Given the description of an element on the screen output the (x, y) to click on. 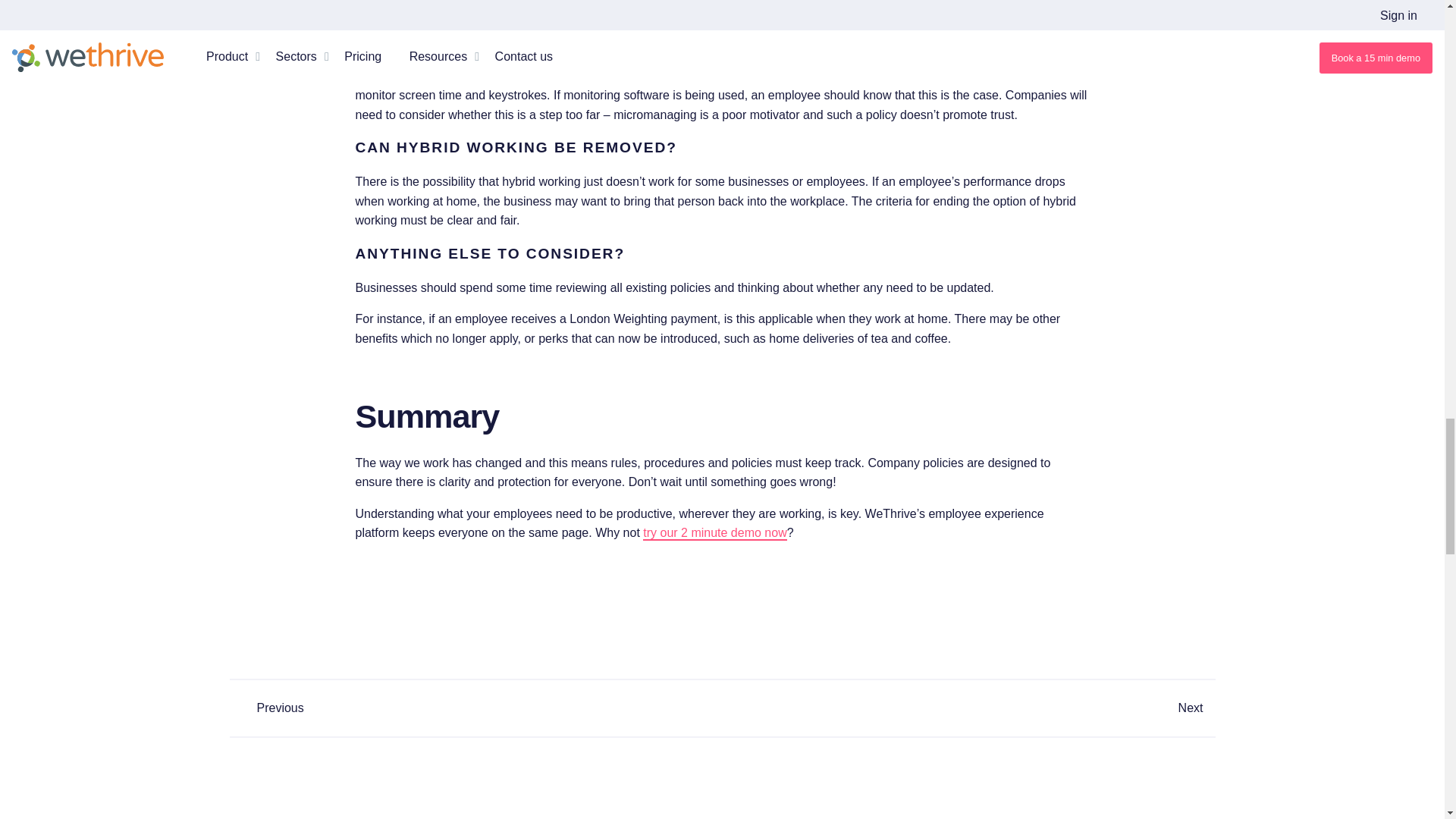
Share this on Facebook (709, 650)
Share this on Twitter (733, 650)
Share this on LinkedIn (722, 650)
